Given the description of an element on the screen output the (x, y) to click on. 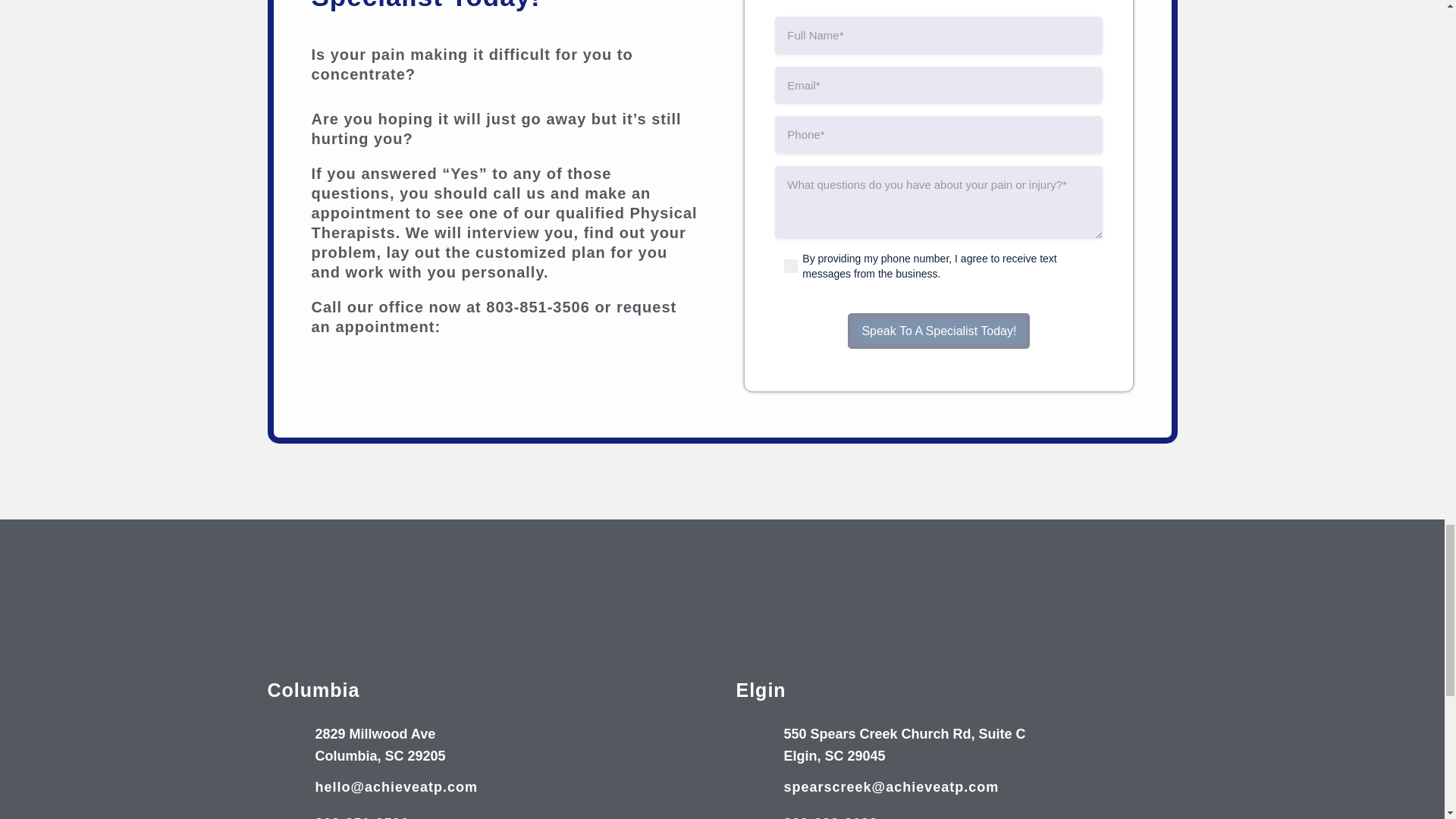
request-arrow (633, 386)
ATP-Logo (721, 587)
Speak To A Specialist Today! (938, 330)
